Given the description of an element on the screen output the (x, y) to click on. 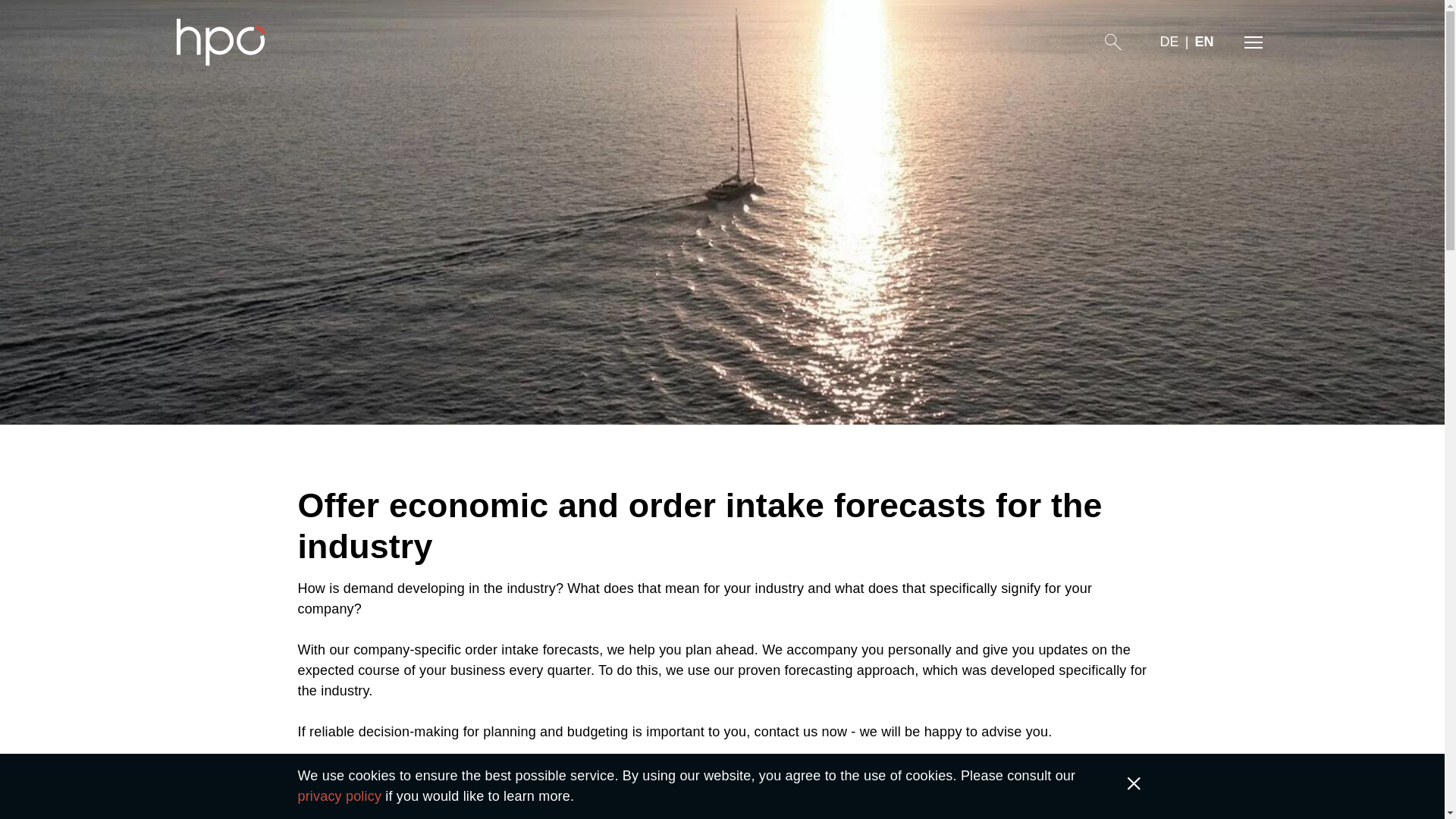
Open navigation (1252, 42)
DE (1169, 41)
hpo forecasting ag (220, 42)
EN (1204, 41)
Book an appointment (386, 806)
privacy policy (339, 795)
Book an appointment (386, 806)
German (1169, 41)
English (1204, 41)
